Given the description of an element on the screen output the (x, y) to click on. 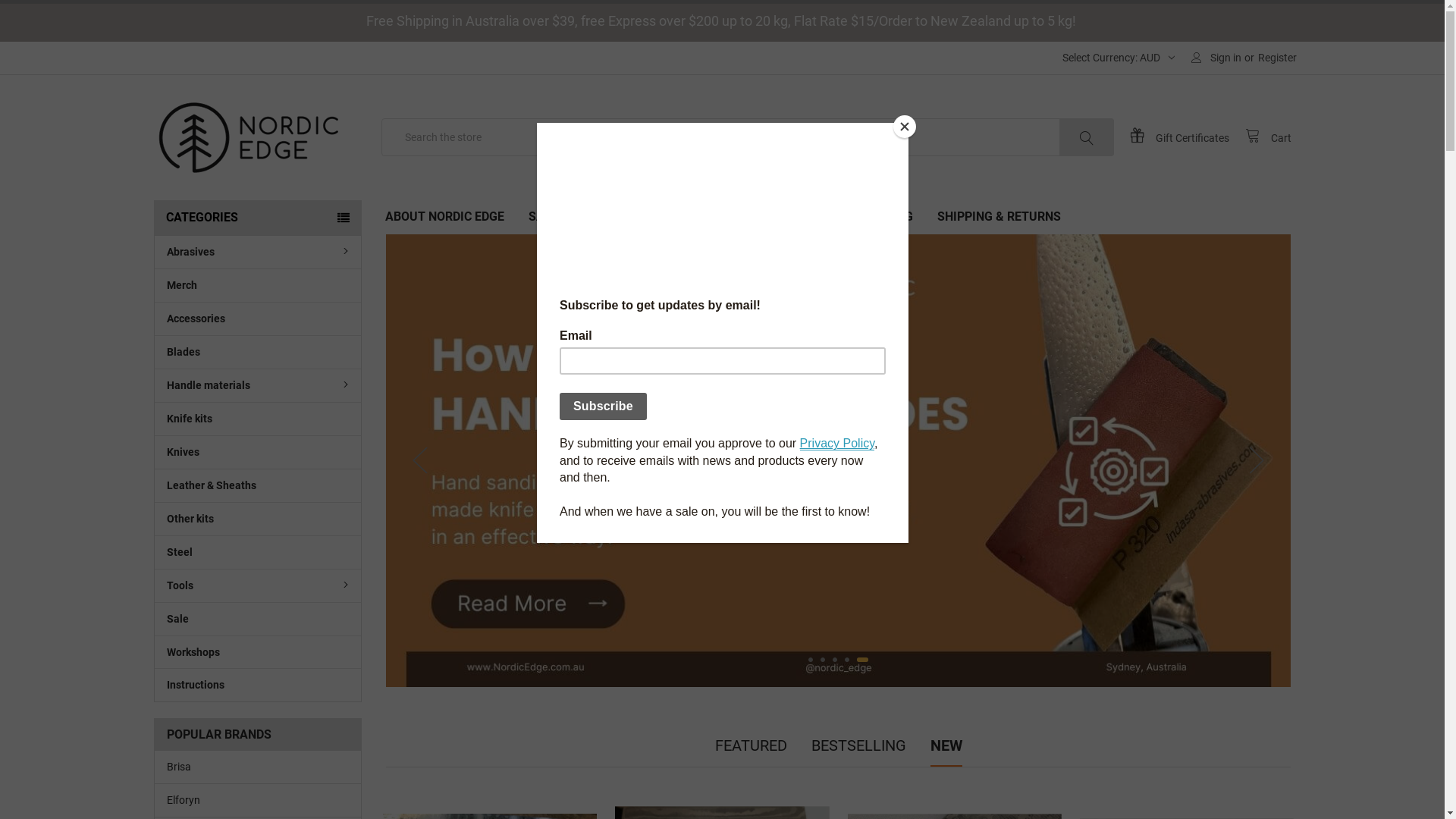
5 Element type: text (865, 659)
4 Element type: text (853, 659)
Steel Element type: text (257, 551)
Instructions Element type: text (257, 684)
Sale Element type: text (257, 618)
CATEGORIES Element type: text (256, 217)
3 Element type: text (838, 659)
Register Element type: text (1276, 57)
SAFETY FIRST Element type: text (568, 216)
Knives Element type: text (257, 451)
FEATURED Element type: text (751, 745)
Handle materials Element type: text (257, 384)
ABOUT NORDIC EDGE Element type: text (444, 216)
SHIPPING & RETURNS Element type: text (999, 216)
Leather & Sheaths Element type: text (257, 485)
Accessories Element type: text (257, 318)
Search Element type: text (1090, 137)
NEW Element type: text (946, 745)
Nordic Edge Element type: hover (247, 137)
Next Element type: text (1257, 460)
Elforyn Element type: text (257, 800)
TERMS & CONDITIONS Element type: text (696, 216)
BLOG Element type: text (896, 216)
CONTACT US Element type: text (820, 216)
1 Element type: text (810, 659)
Workshops Element type: text (257, 651)
Other kits Element type: text (257, 518)
Blades Element type: text (257, 351)
Gift Certificates Element type: text (1187, 136)
Previous Element type: text (419, 460)
BESTSELLING Element type: text (858, 745)
Brisa Element type: text (257, 767)
Select Currency: 
AUD Element type: text (1114, 57)
Knife kits Element type: text (257, 418)
Abrasives Element type: text (257, 251)
Sign in Element type: text (1216, 57)
Tools Element type: text (257, 585)
Cart Element type: text (1268, 136)
2 Element type: text (822, 659)
Merch Element type: text (257, 284)
